Given the description of an element on the screen output the (x, y) to click on. 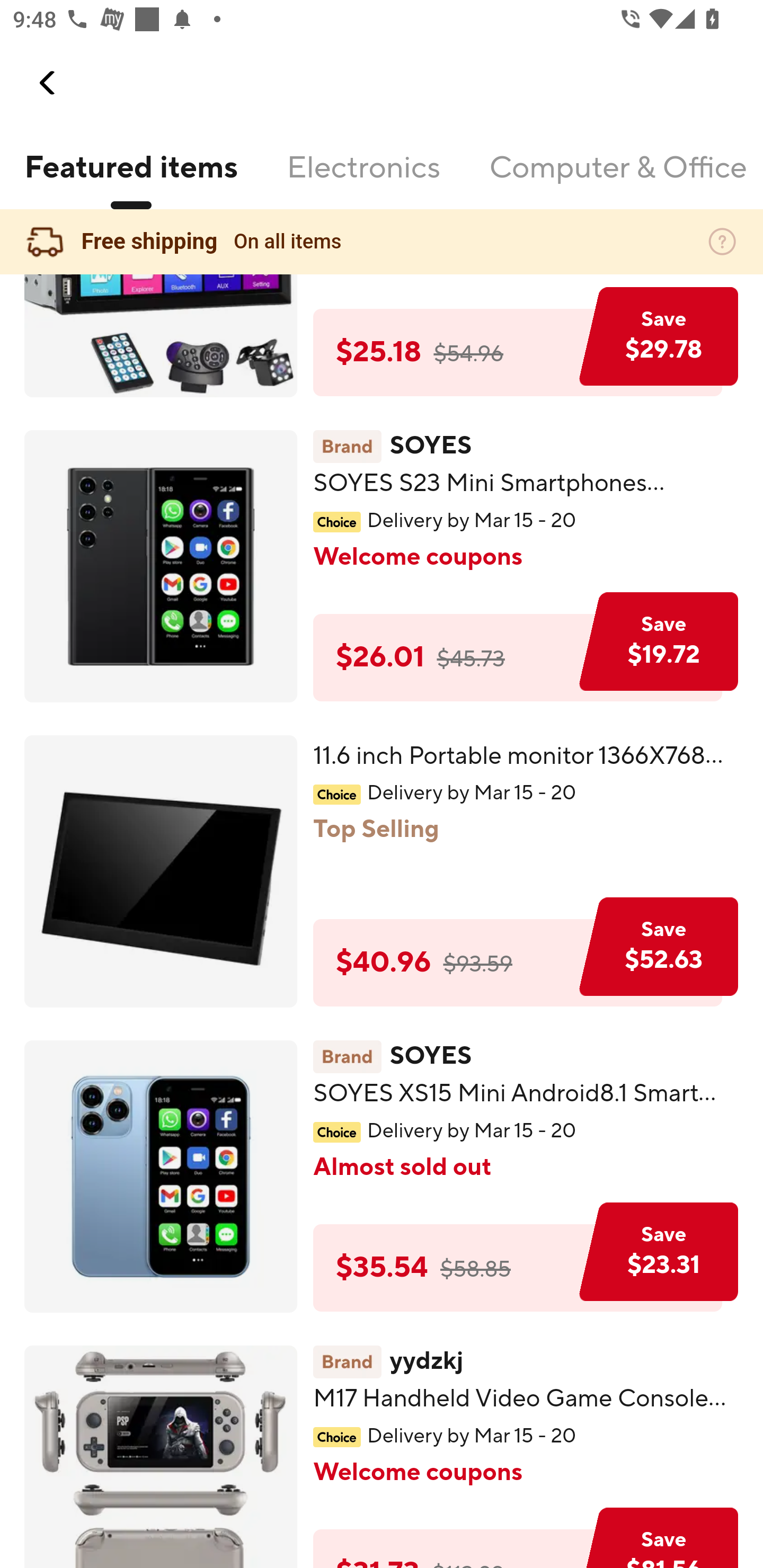
 (48, 82)
Featured items (130, 178)
Electronics (363, 178)
Computer & Office (617, 178)
